Given the description of an element on the screen output the (x, y) to click on. 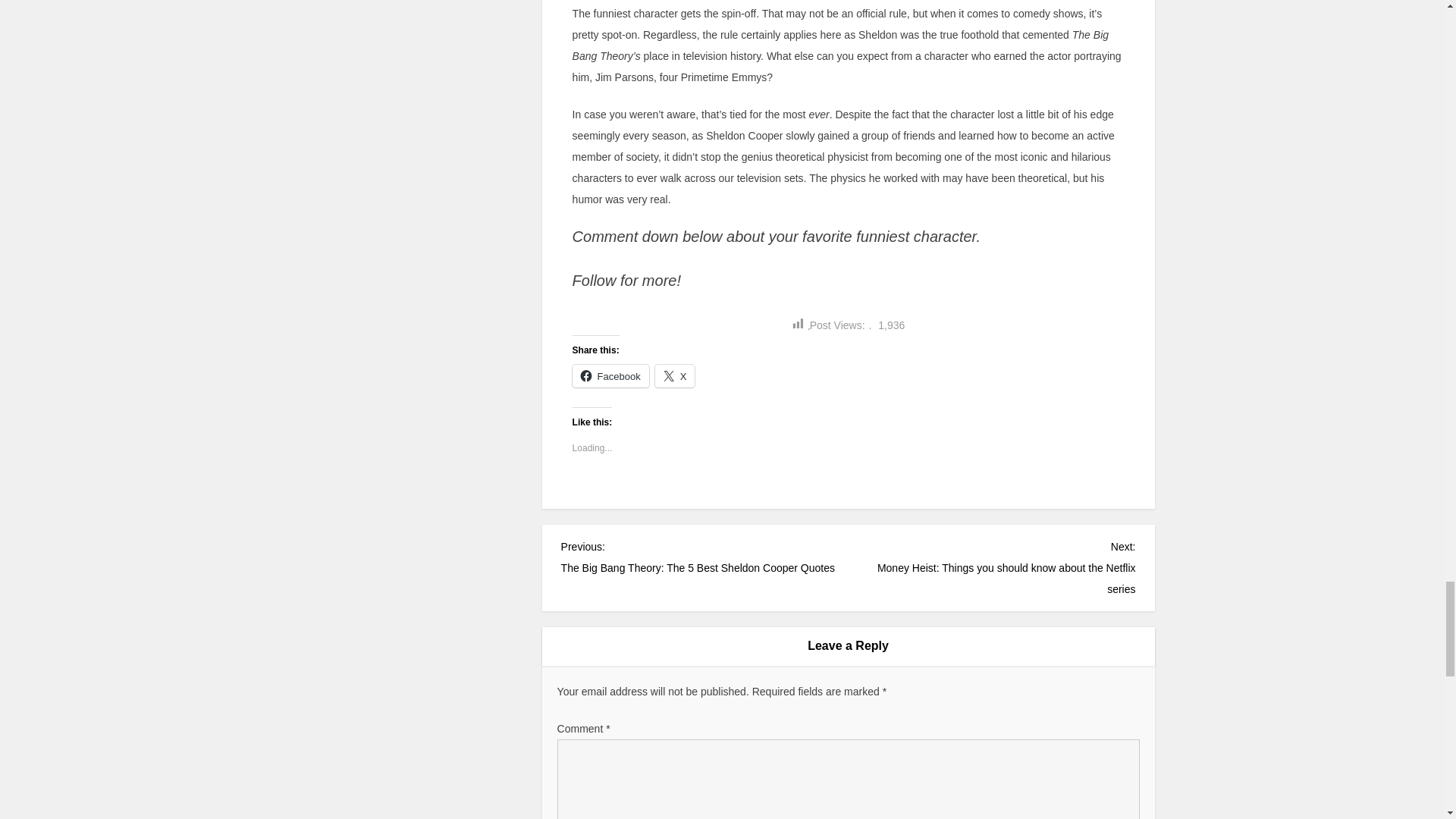
Click to share on Facebook (610, 375)
Facebook (610, 375)
X (675, 375)
Click to share on X (675, 375)
